Given the description of an element on the screen output the (x, y) to click on. 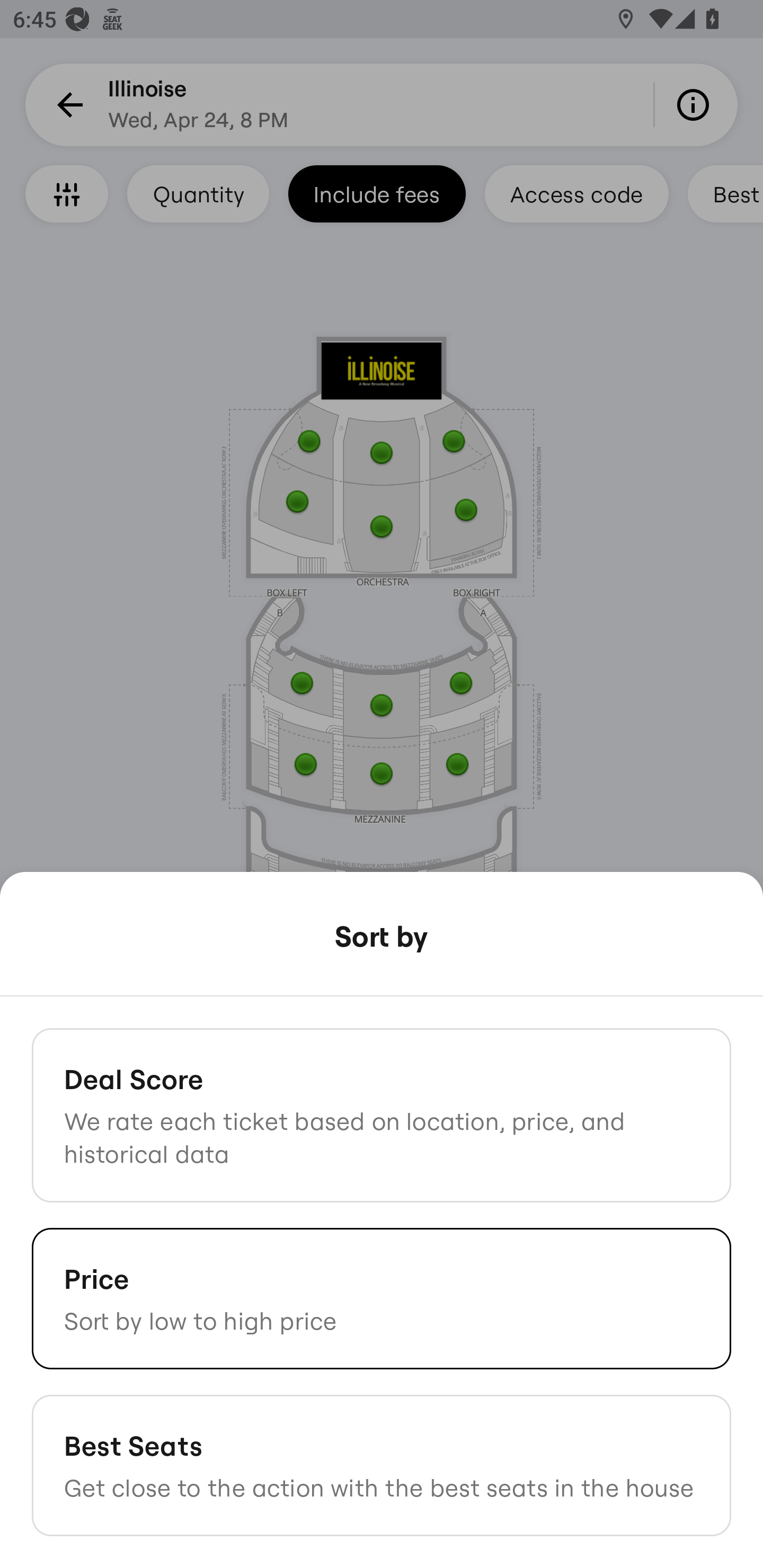
Price Sort by low to high price (381, 1297)
